Given the description of an element on the screen output the (x, y) to click on. 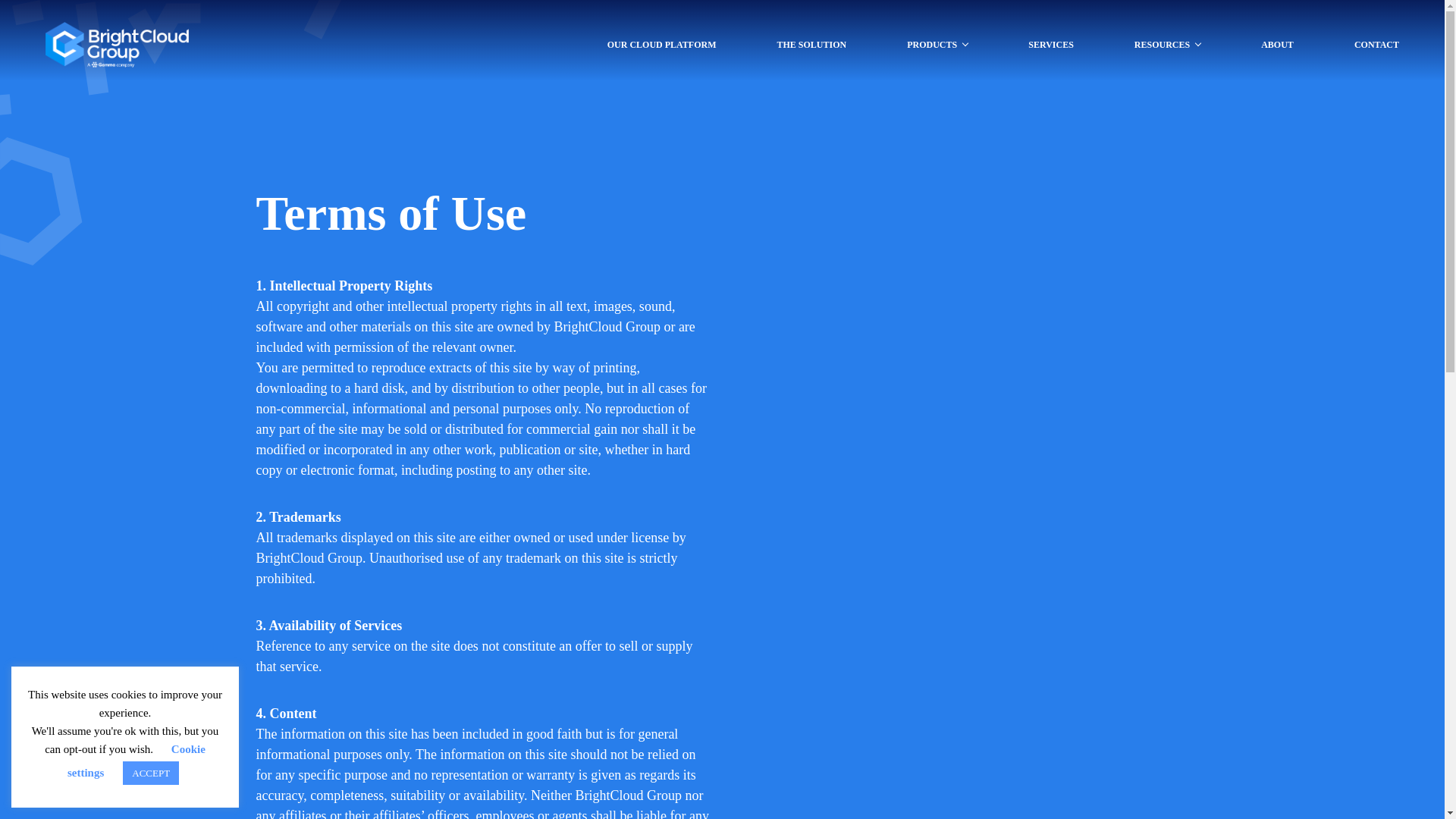
OUR CLOUD PLATFORM (661, 44)
Our Cloud Platform (661, 44)
ACCEPT (150, 772)
Cookie settings (135, 760)
